Given the description of an element on the screen output the (x, y) to click on. 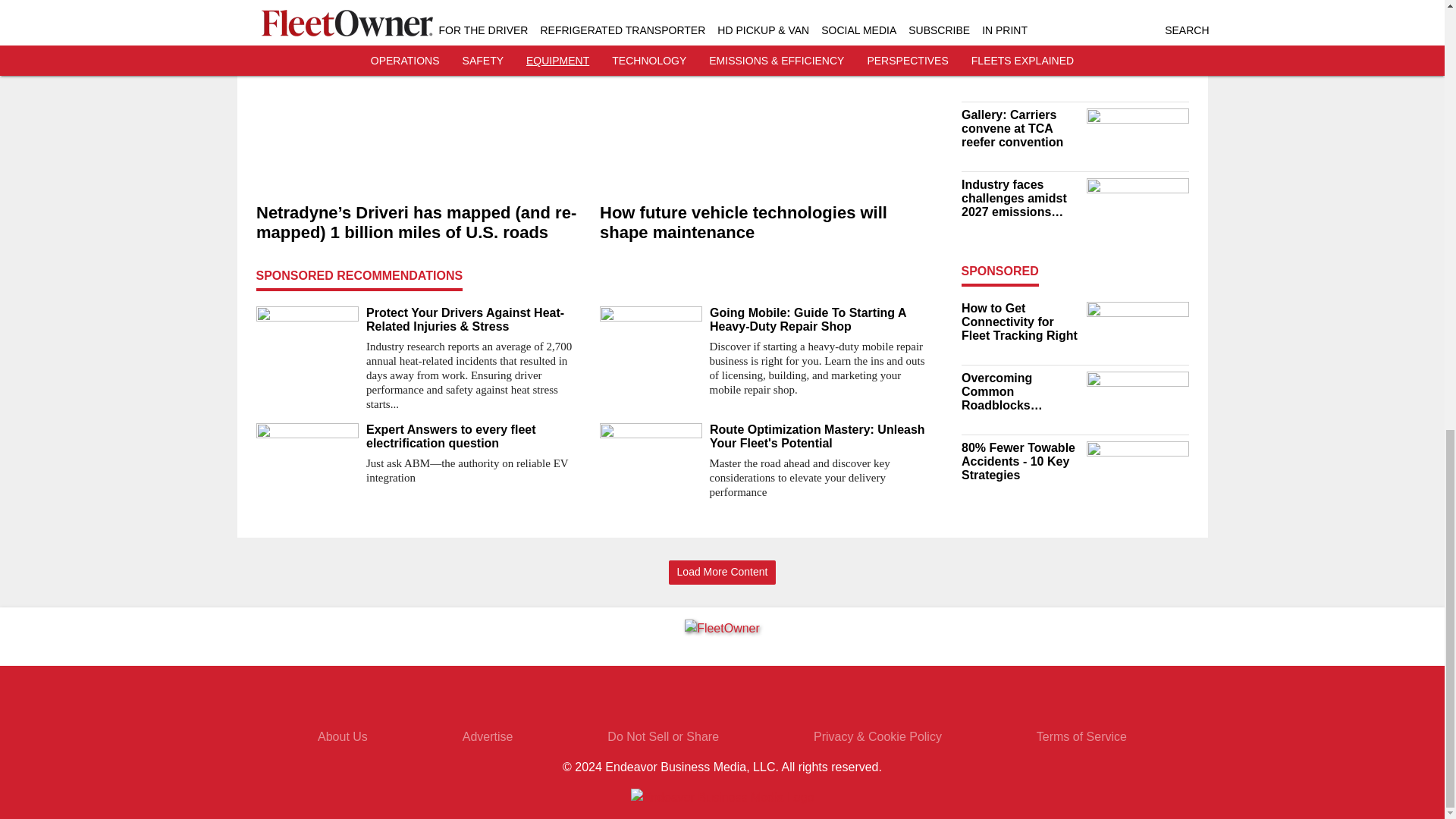
Route Optimization Mastery: Unleash Your Fleet's Potential (820, 436)
Expert Answers to every fleet electrification question (476, 436)
Going Mobile: Guide To Starting A Heavy-Duty Repair Shop (820, 319)
How future vehicle technologies will shape maintenance (764, 223)
